Given the description of an element on the screen output the (x, y) to click on. 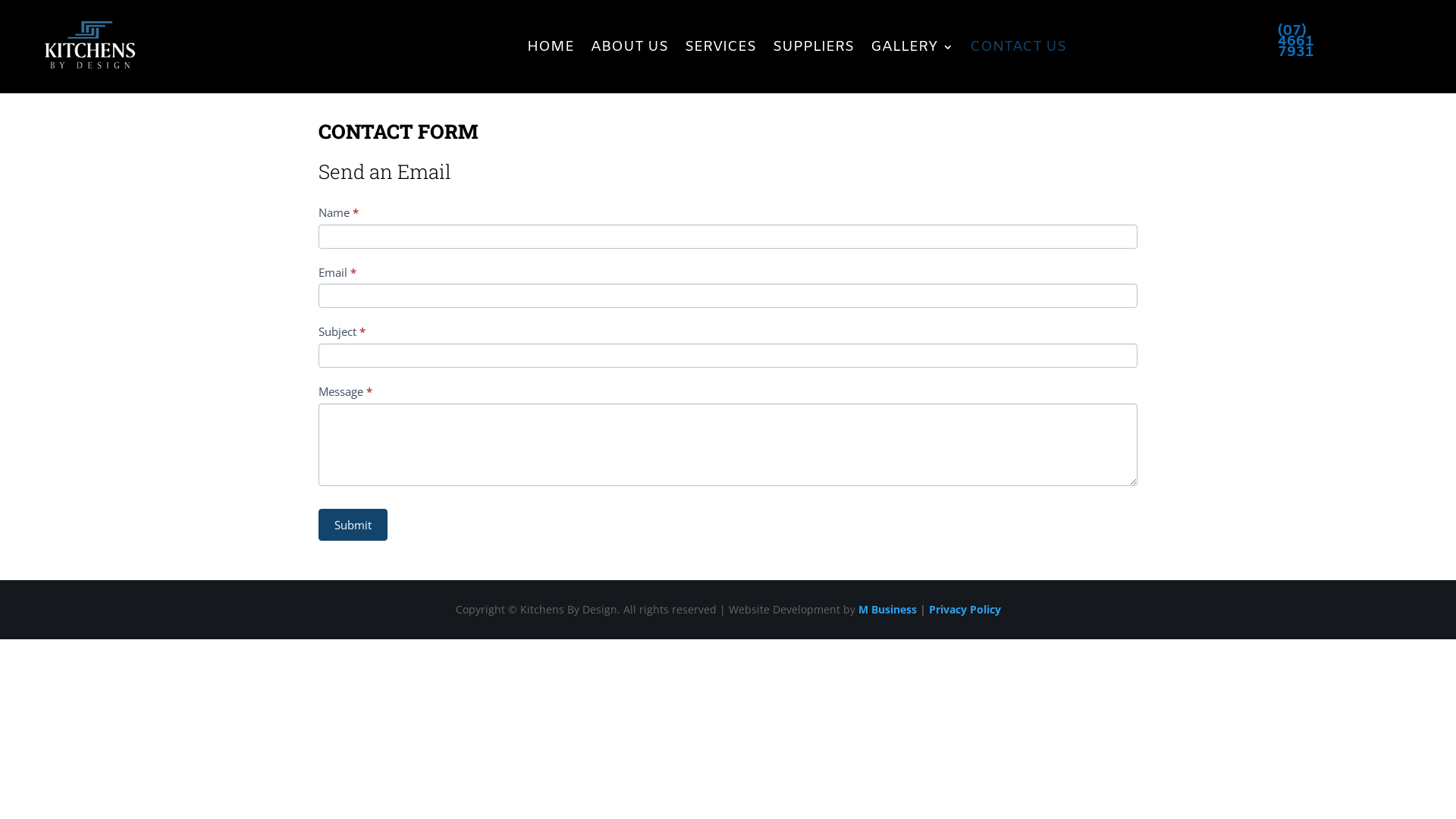
SERVICES Element type: text (720, 46)
SUPPLIERS Element type: text (812, 46)
(07) 4661 7931 Element type: text (1295, 44)
GALLERY Element type: text (911, 46)
Submit Element type: text (352, 524)
CONTACT US Element type: text (1017, 46)
ABOUT US Element type: text (629, 46)
Privacy Policy Element type: text (964, 609)
M Business Element type: text (887, 609)
HOME Element type: text (550, 46)
